Given the description of an element on the screen output the (x, y) to click on. 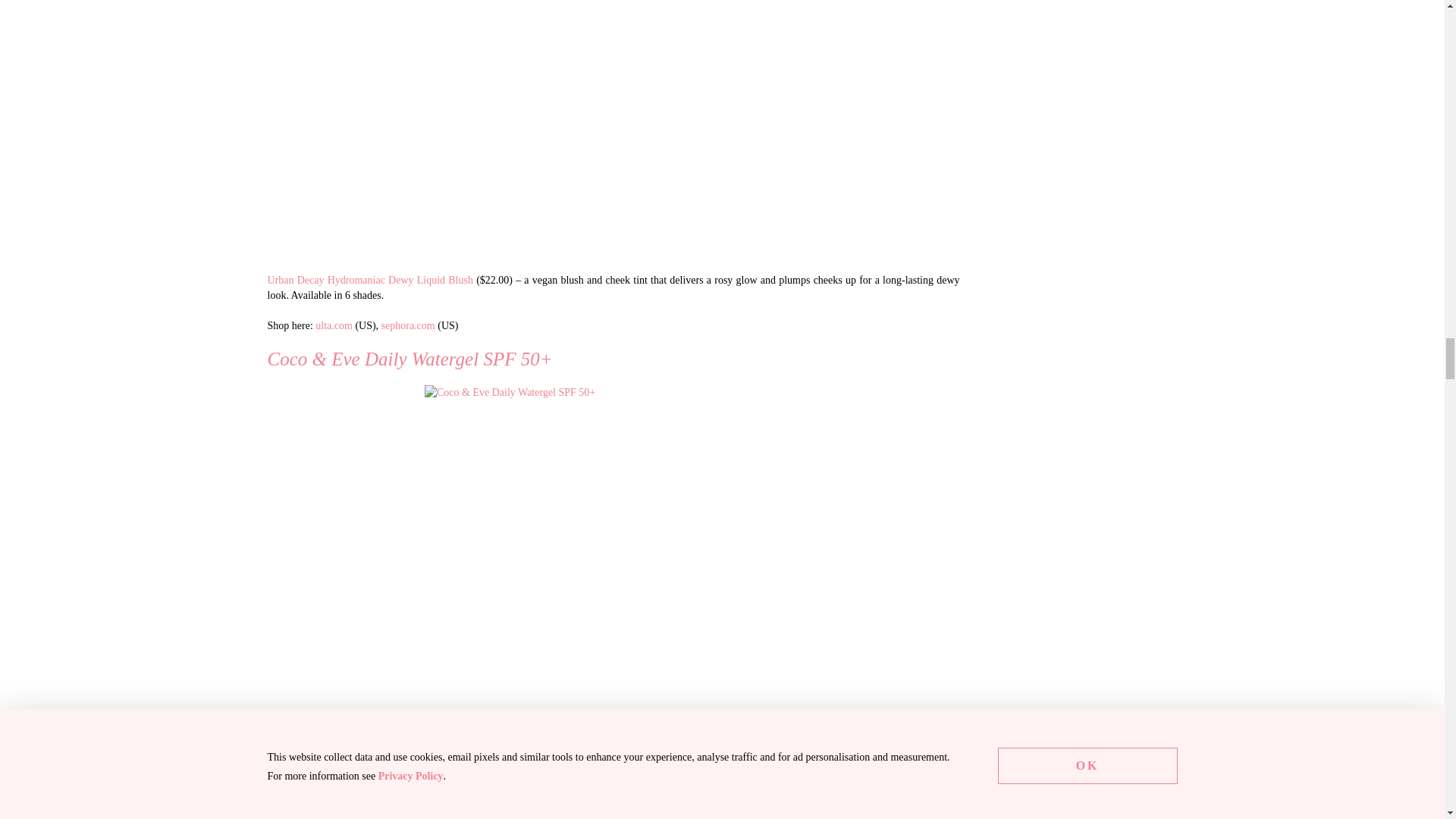
Urban Decay Hydromaniac Dewy Liquid Blush (613, 128)
